Given the description of an element on the screen output the (x, y) to click on. 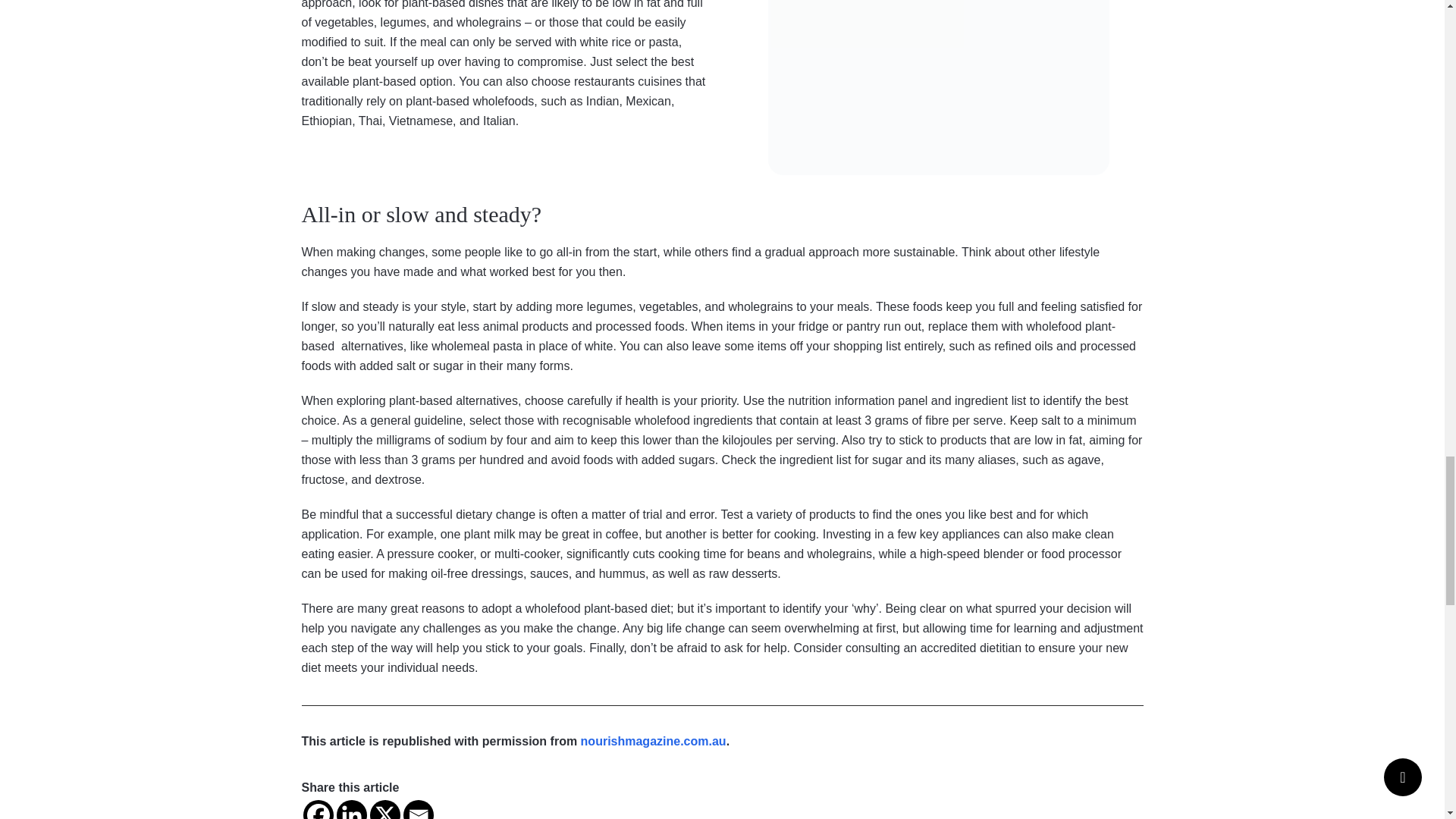
Eating out (937, 87)
Email (418, 809)
X (384, 809)
Linkedin (351, 809)
Facebook (317, 809)
